Given the description of an element on the screen output the (x, y) to click on. 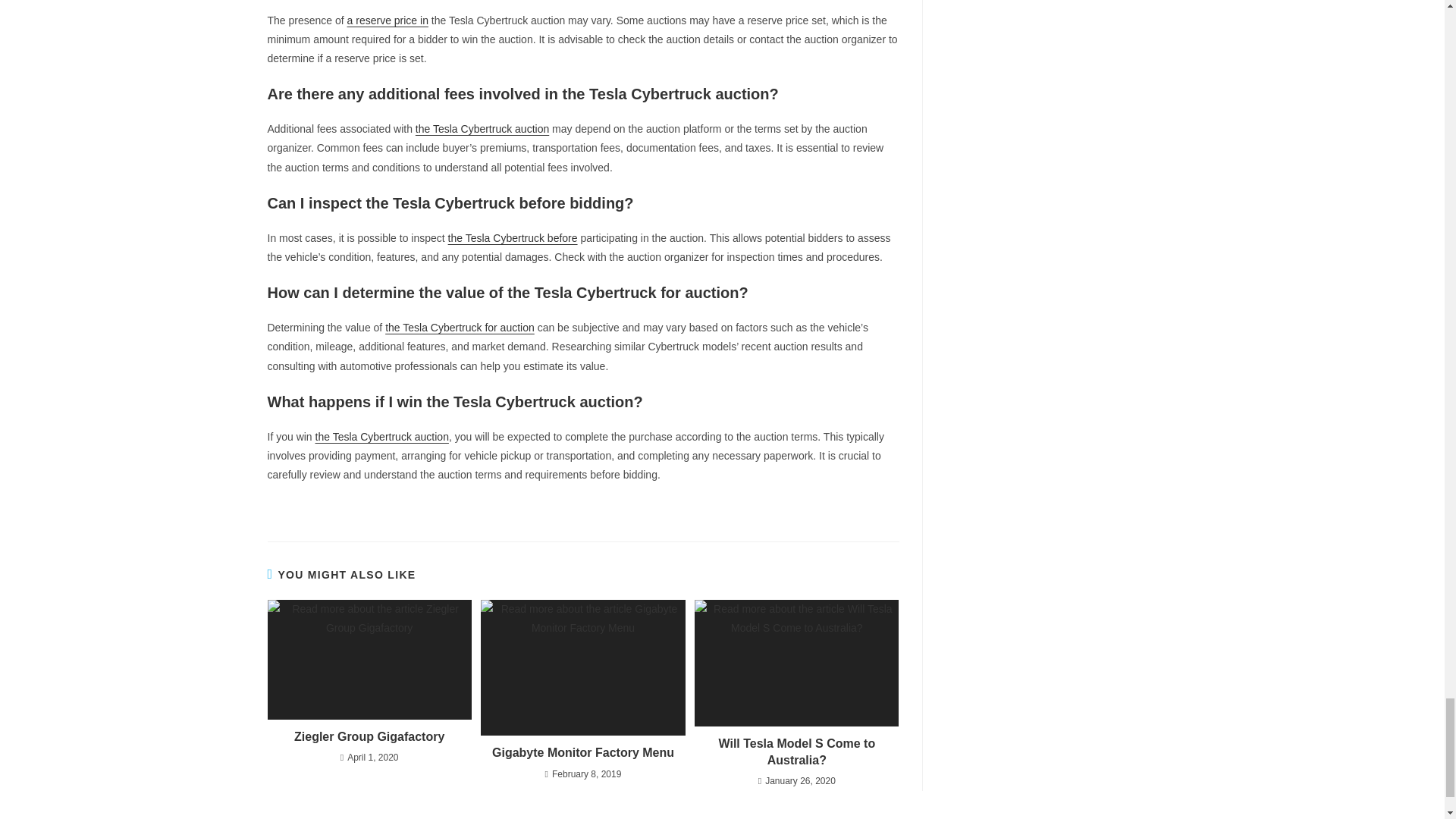
the Tesla Cybertruck before (513, 237)
a reserve price in (387, 20)
the Tesla Cybertruck auction (481, 128)
